Given the description of an element on the screen output the (x, y) to click on. 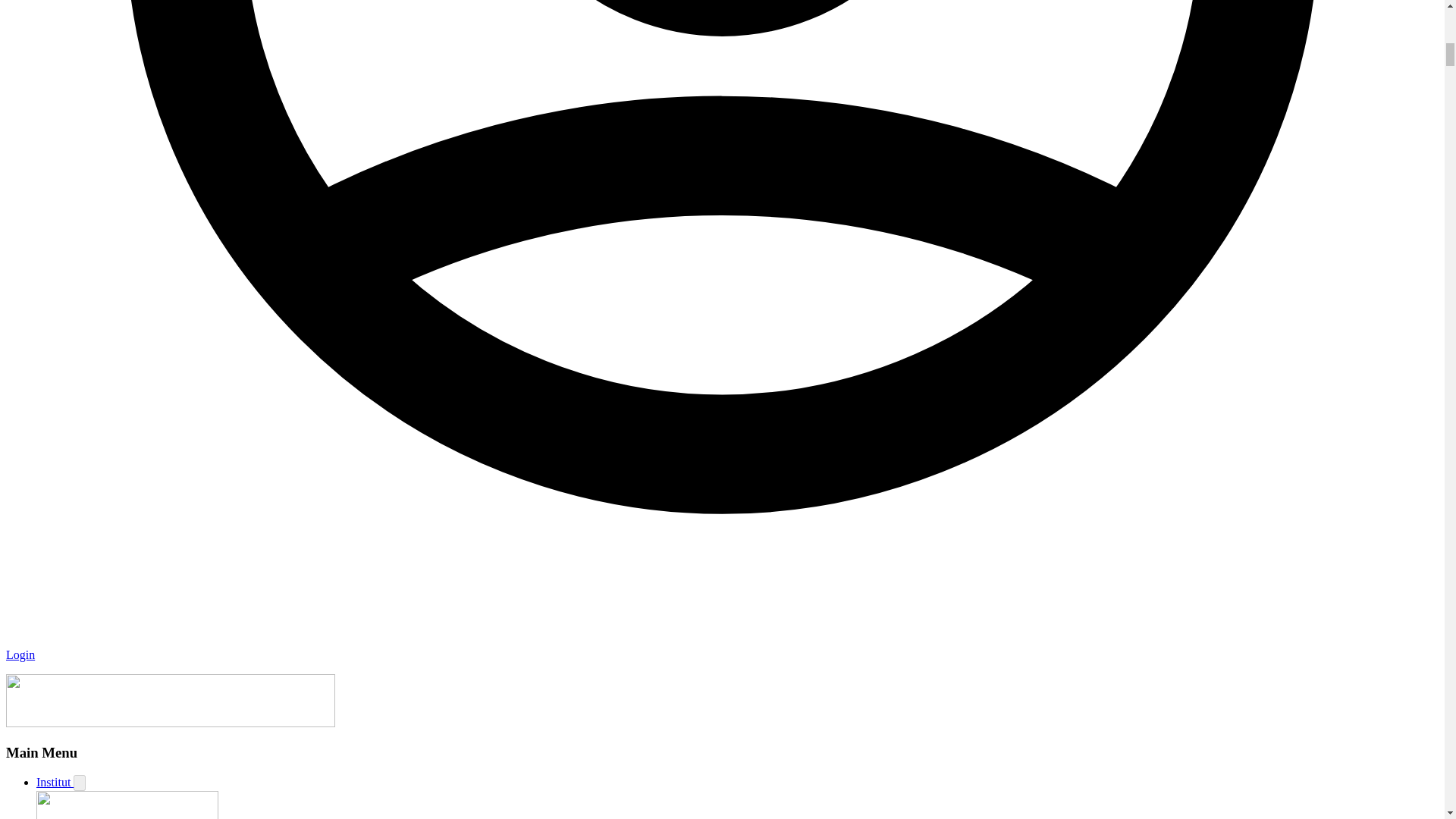
Institut (55, 781)
Institut (55, 781)
